Given the description of an element on the screen output the (x, y) to click on. 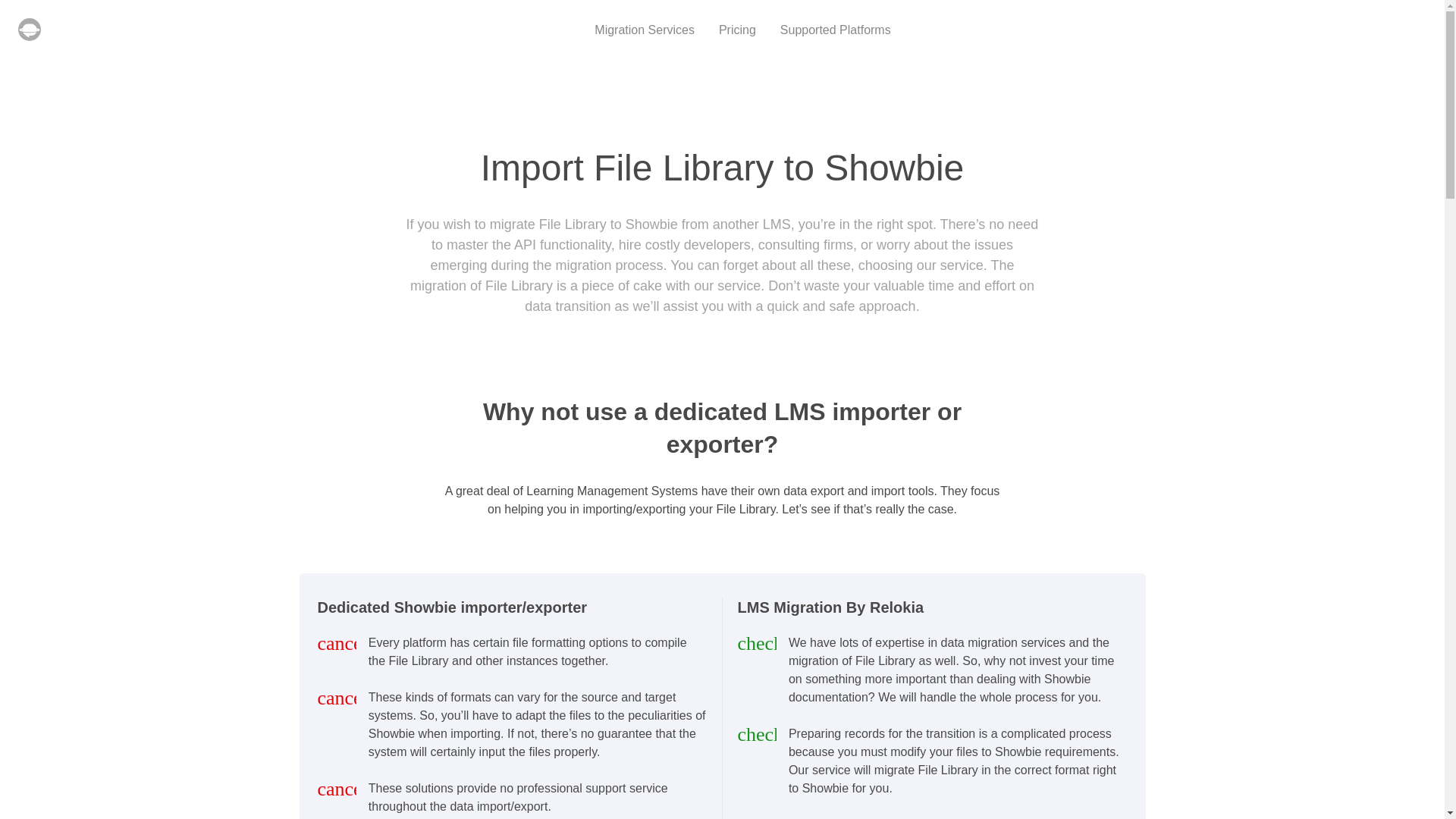
Supported Platforms (835, 30)
Migration Services (644, 30)
Migration Services (644, 30)
Pricing (737, 30)
Supported Platforms (835, 30)
Pricing (737, 30)
